Given the description of an element on the screen output the (x, y) to click on. 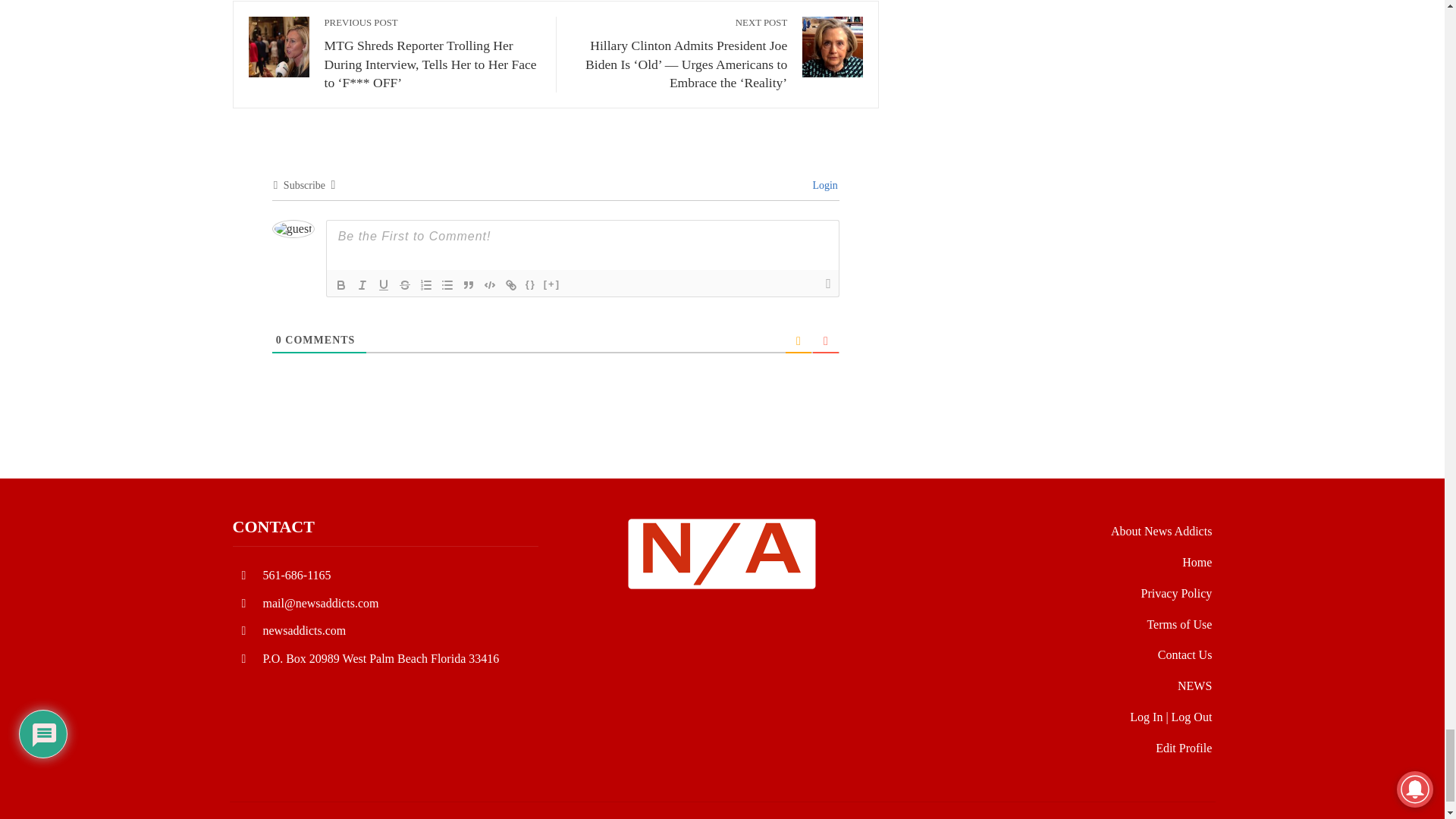
Bold (341, 285)
Italic (362, 285)
Underline (383, 285)
ordered (425, 285)
Strike (404, 285)
Blockquote (468, 285)
Login (823, 184)
Unordered List (447, 285)
bullet (447, 285)
Ordered List (425, 285)
